Given the description of an element on the screen output the (x, y) to click on. 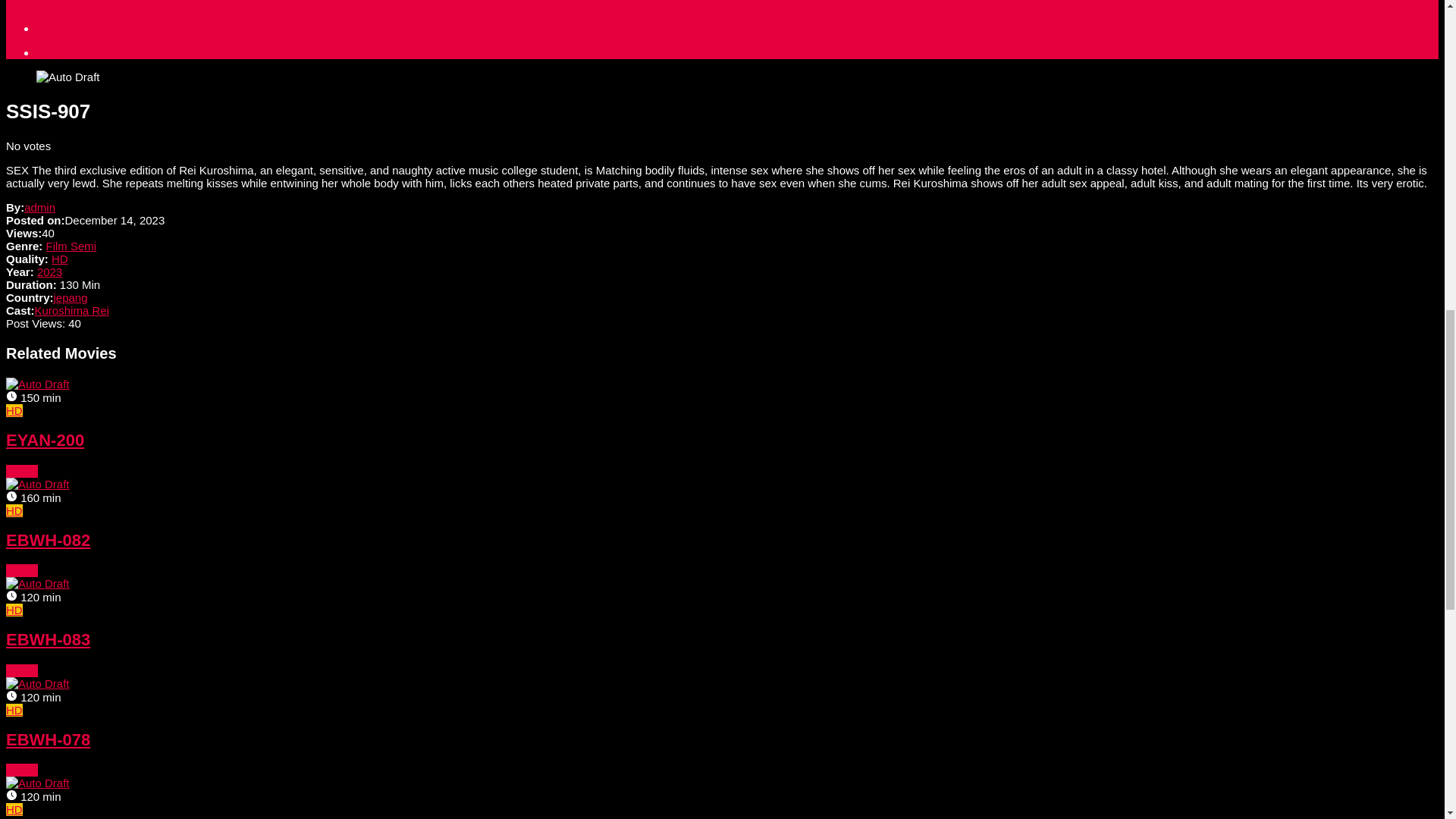
Permalink to: EYAN-200 (37, 383)
admin (39, 206)
Film Semi (71, 245)
Auto Draft (68, 76)
Turn off light (74, 28)
Permalink to: EBWH-082 (37, 483)
HD (59, 258)
Permalink to: EYAN-200 (44, 439)
Turn off light (74, 28)
Permalink to: EYAN-200 (21, 471)
Server 1 (58, 51)
Permalink to: admin (39, 206)
2023 (49, 271)
